Given the description of an element on the screen output the (x, y) to click on. 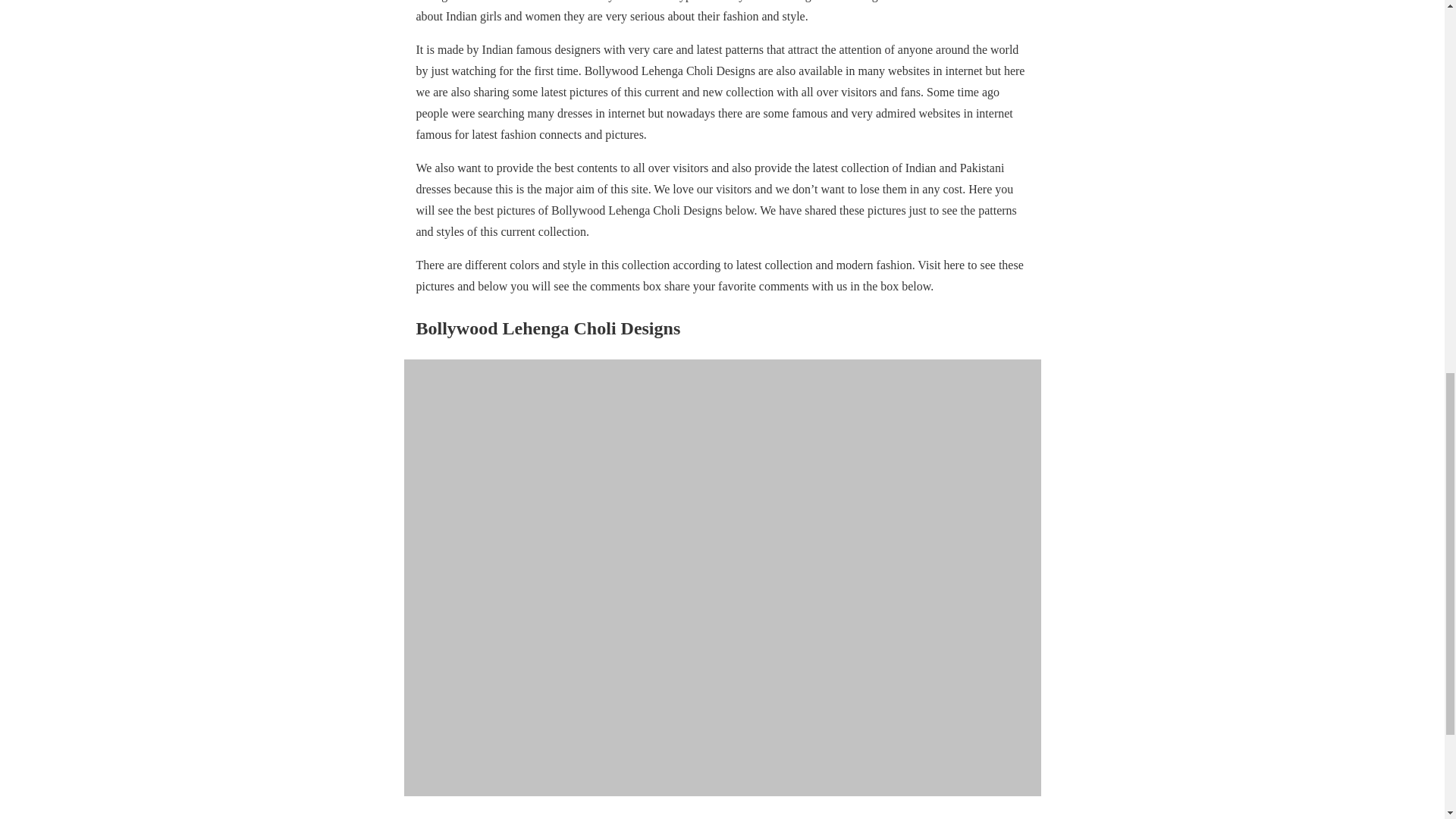
Pinterest (526, 818)
Facebook (477, 818)
WhatsApp (621, 818)
Linkedin (572, 818)
